Given the description of an element on the screen output the (x, y) to click on. 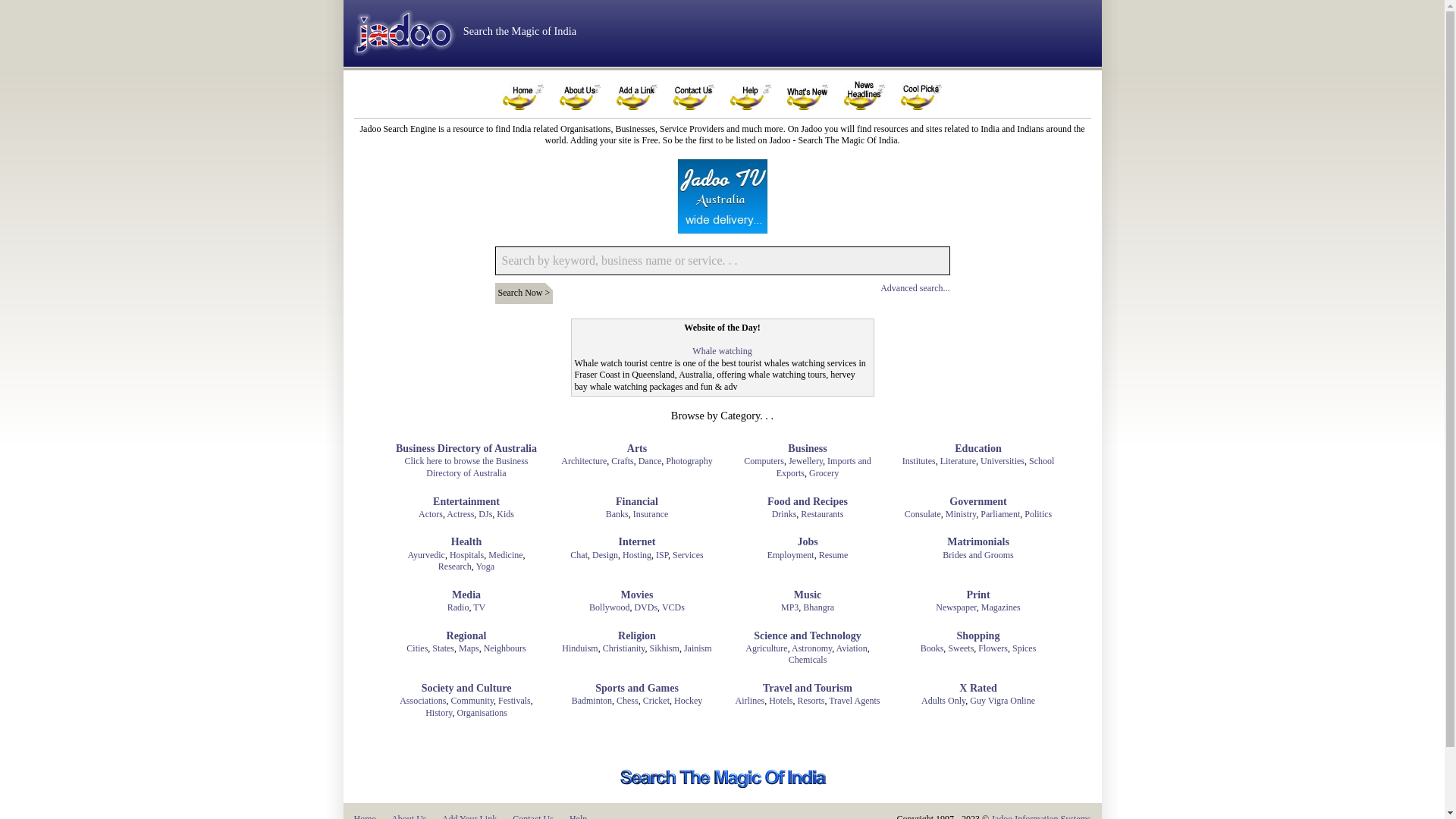
Jainism Element type: text (698, 648)
Chess Element type: text (627, 700)
Banks Element type: text (616, 513)
Ministry Element type: text (960, 513)
States Element type: text (443, 648)
Aviation Element type: text (851, 648)
Cities Element type: text (416, 648)
X Rated Element type: text (977, 688)
Sikhism Element type: text (664, 648)
Kids Element type: text (505, 513)
Services Element type: text (687, 554)
Matrimonials Element type: text (978, 541)
School Element type: text (1041, 460)
Jewellery Element type: text (805, 460)
Bhangra Element type: text (818, 607)
Financial Element type: text (636, 501)
Universities Element type: text (1002, 460)
Society and Culture Element type: text (466, 688)
Maps Element type: text (468, 648)
Badminton Element type: text (591, 700)
Yoga Element type: text (484, 566)
Brides and Grooms Element type: text (977, 554)
Print Element type: text (977, 594)
Festivals Element type: text (514, 700)
Radio Element type: text (458, 607)
Magazines Element type: text (1000, 607)
Medicine Element type: text (505, 554)
DJs Element type: text (485, 513)
Ayurvedic Element type: text (426, 554)
Business Element type: text (806, 448)
Jobs Element type: text (807, 541)
Entertainment Element type: text (466, 501)
Government Element type: text (977, 501)
Hockey Element type: text (688, 700)
Hinduism Element type: text (579, 648)
Regional Element type: text (466, 635)
Resume Element type: text (833, 554)
Restaurants Element type: text (821, 513)
Arts Element type: text (636, 448)
VCDs Element type: text (673, 607)
Hospitals Element type: text (466, 554)
Bollywood Element type: text (609, 607)
Chat Element type: text (578, 554)
Music Element type: text (807, 594)
Click here to browse the Business Directory of Australia Element type: text (466, 466)
Politics Element type: text (1037, 513)
Dance Element type: text (650, 460)
Travel and Tourism Element type: text (807, 688)
History Element type: text (438, 712)
Agriculture Element type: text (766, 648)
Religion Element type: text (636, 635)
TV Element type: text (479, 607)
Computers Element type: text (763, 460)
Imports and Exports Element type: text (823, 466)
Community Element type: text (472, 700)
Science and Technology Element type: text (807, 635)
Institutes Element type: text (918, 460)
Health Element type: text (466, 541)
Food and Recipes Element type: text (807, 501)
Airlines Element type: text (749, 700)
Sweets Element type: text (960, 648)
Movies Element type: text (637, 594)
Media Element type: text (465, 594)
Resorts Element type: text (810, 700)
MP3 Element type: text (789, 607)
Employment Element type: text (790, 554)
Adults Only Element type: text (943, 700)
Spices Element type: text (1023, 648)
Drinks Element type: text (784, 513)
Travel Agents Element type: text (853, 700)
Consulate Element type: text (922, 513)
Internet Element type: text (636, 541)
Education Element type: text (977, 448)
Architecture Element type: text (583, 460)
Associations Element type: text (422, 700)
Advanced search... Element type: text (914, 287)
Newspaper Element type: text (955, 607)
Photography Element type: text (688, 460)
Organisations Element type: text (481, 712)
Search Now > Element type: text (523, 293)
Chemicals Element type: text (807, 659)
Insurance Element type: text (650, 513)
Literature Element type: text (957, 460)
Crafts Element type: text (622, 460)
ISP Element type: text (661, 554)
Actress Element type: text (459, 513)
Actors Element type: text (430, 513)
DVDs Element type: text (645, 607)
Design Element type: text (605, 554)
Hotels Element type: text (780, 700)
Search by keyword, business name or service. . . Element type: text (721, 260)
Research Element type: text (454, 566)
Flowers Element type: text (992, 648)
Sports and Games Element type: text (636, 688)
Christianity Element type: text (623, 648)
Cricket Element type: text (656, 700)
Books Element type: text (932, 648)
Neighbours Element type: text (504, 648)
Astronomy Element type: text (811, 648)
Grocery Element type: text (823, 472)
Parliament Element type: text (999, 513)
Whale watching Element type: text (721, 350)
Shopping Element type: text (978, 635)
Business Directory of Australia Element type: text (465, 448)
Hosting Element type: text (636, 554)
Guy Vigra Online Element type: text (1002, 700)
